Given the description of an element on the screen output the (x, y) to click on. 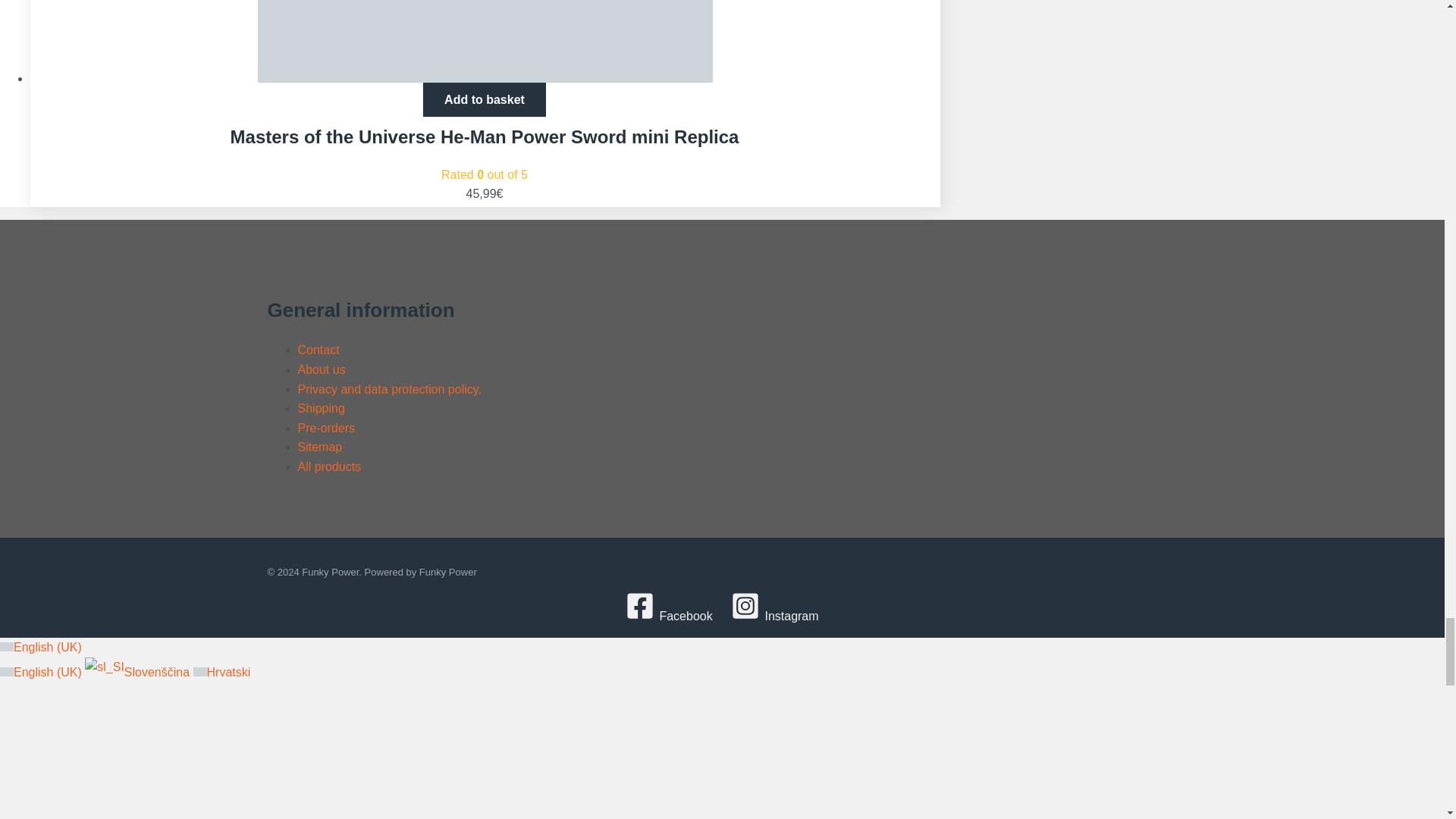
Hrvatski (199, 671)
Hrvatski (221, 671)
